Given the description of an element on the screen output the (x, y) to click on. 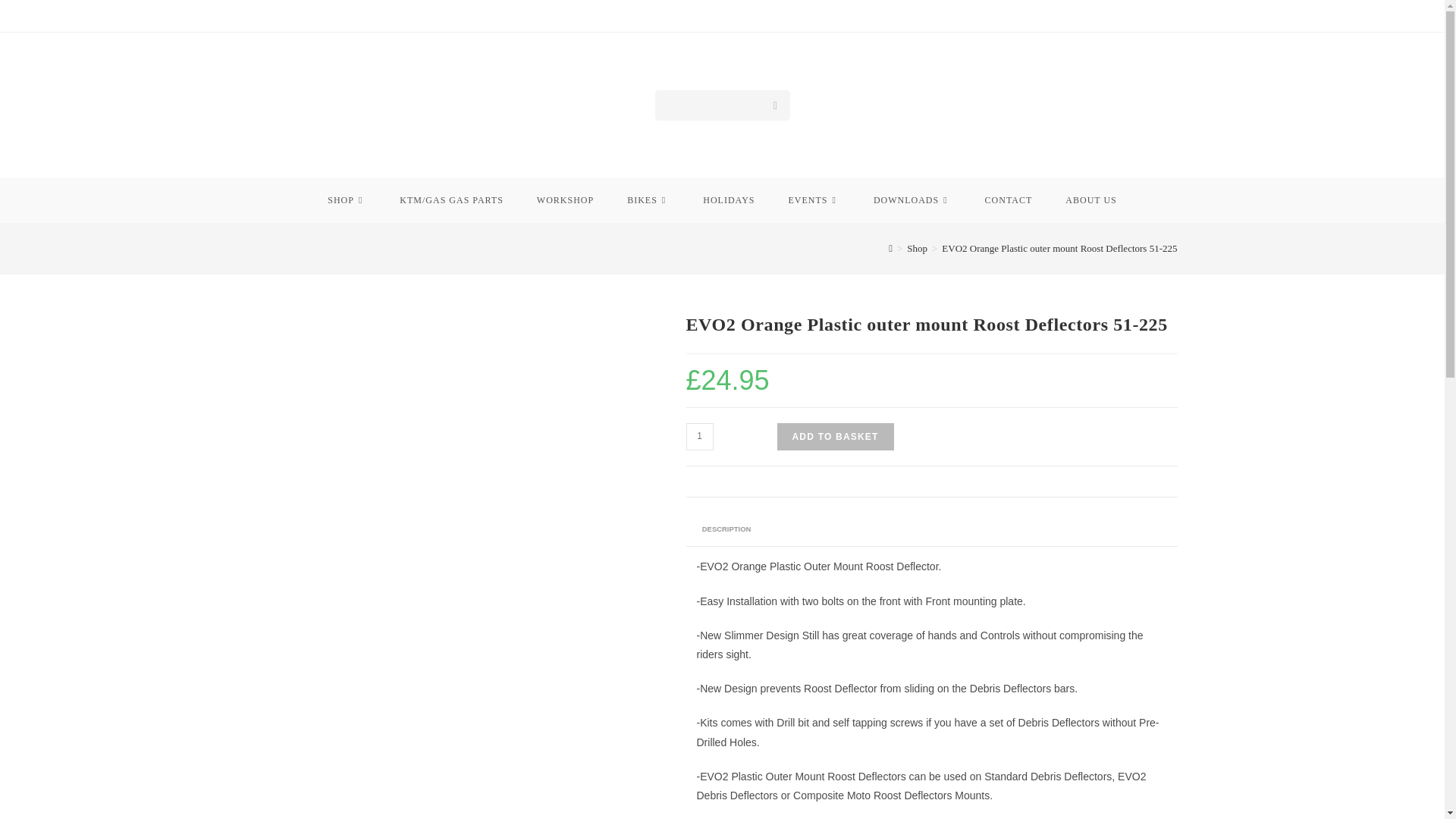
0 (1085, 105)
SHOP (346, 199)
My Account (1141, 105)
1 (699, 436)
